Given the description of an element on the screen output the (x, y) to click on. 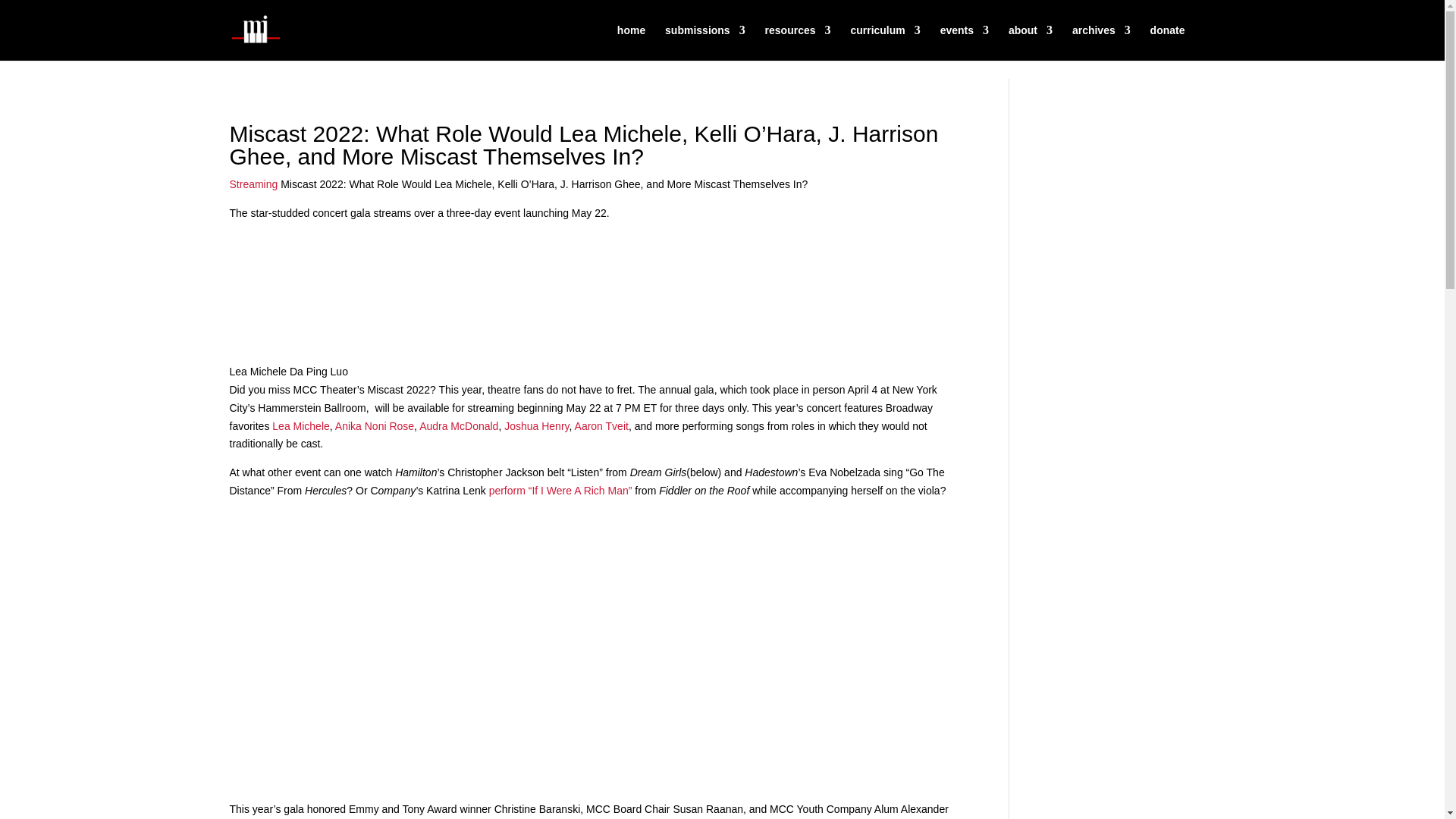
Streaming (253, 184)
curriculum (885, 42)
events (964, 42)
submissions (705, 42)
donate (1167, 42)
about (1030, 42)
resources (798, 42)
archives (1101, 42)
